Given the description of an element on the screen output the (x, y) to click on. 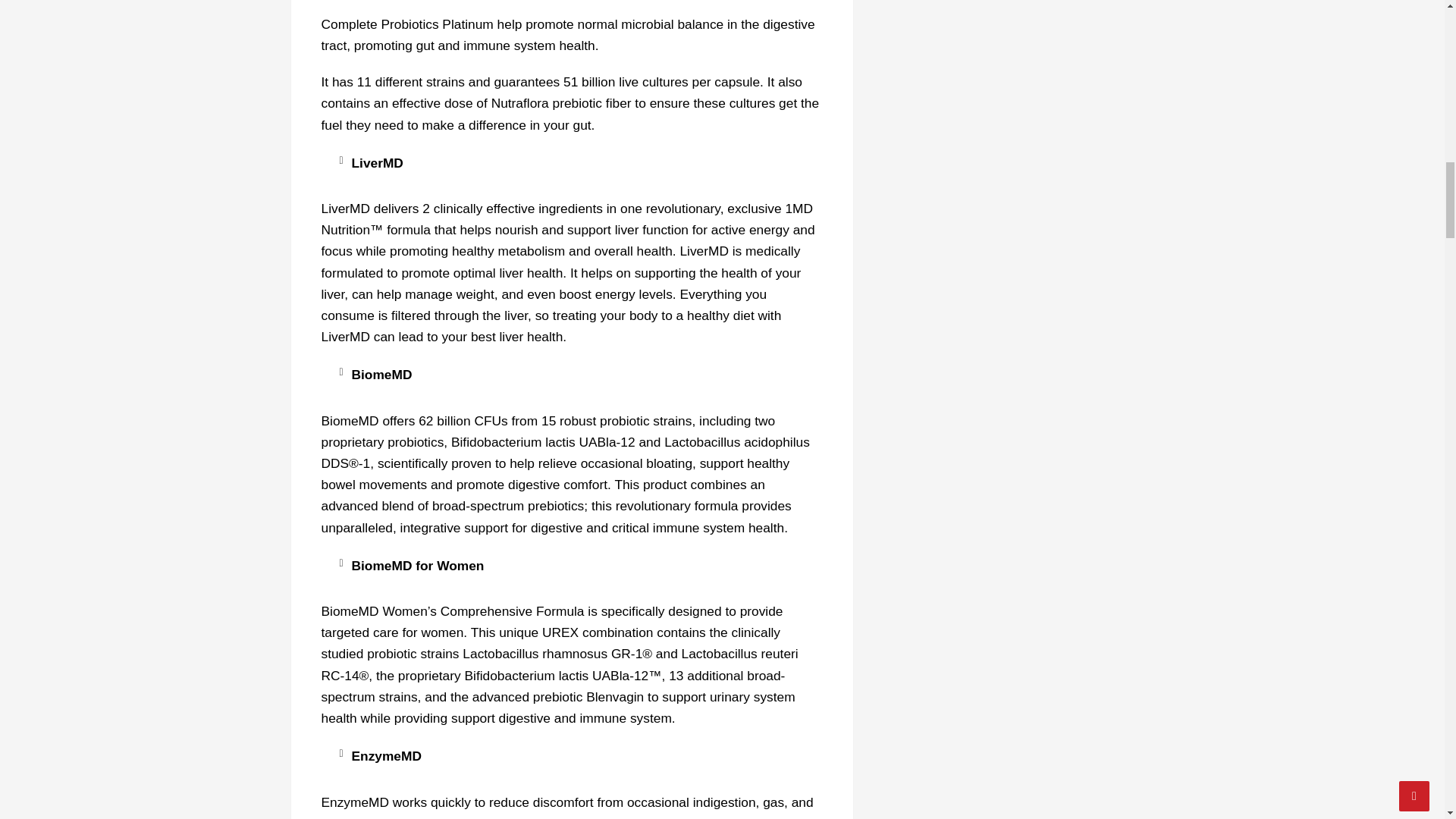
digestive (531, 484)
support liver function (627, 229)
immune system health (527, 45)
